Given the description of an element on the screen output the (x, y) to click on. 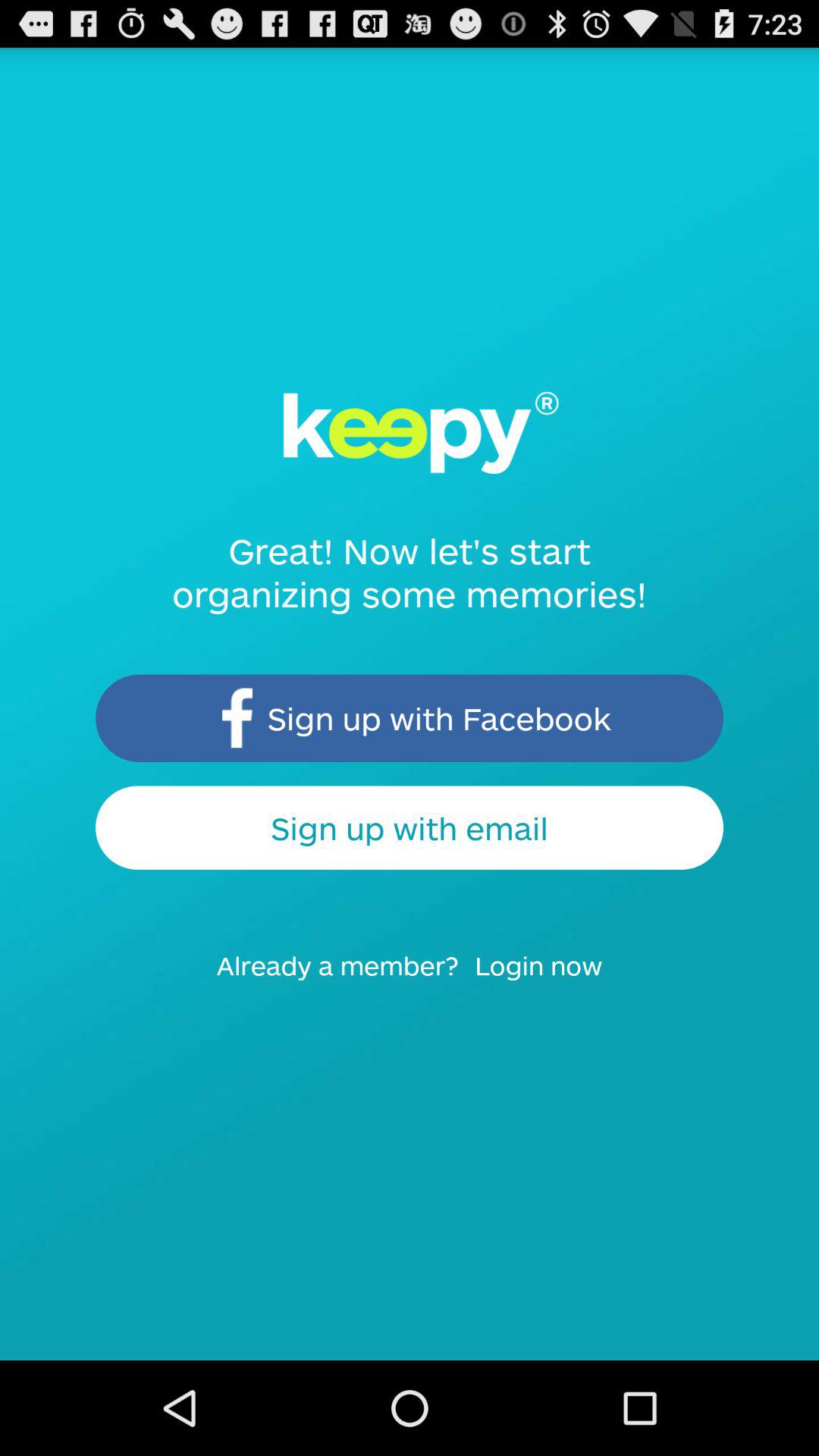
open the icon to the right of already a member? icon (548, 980)
